Given the description of an element on the screen output the (x, y) to click on. 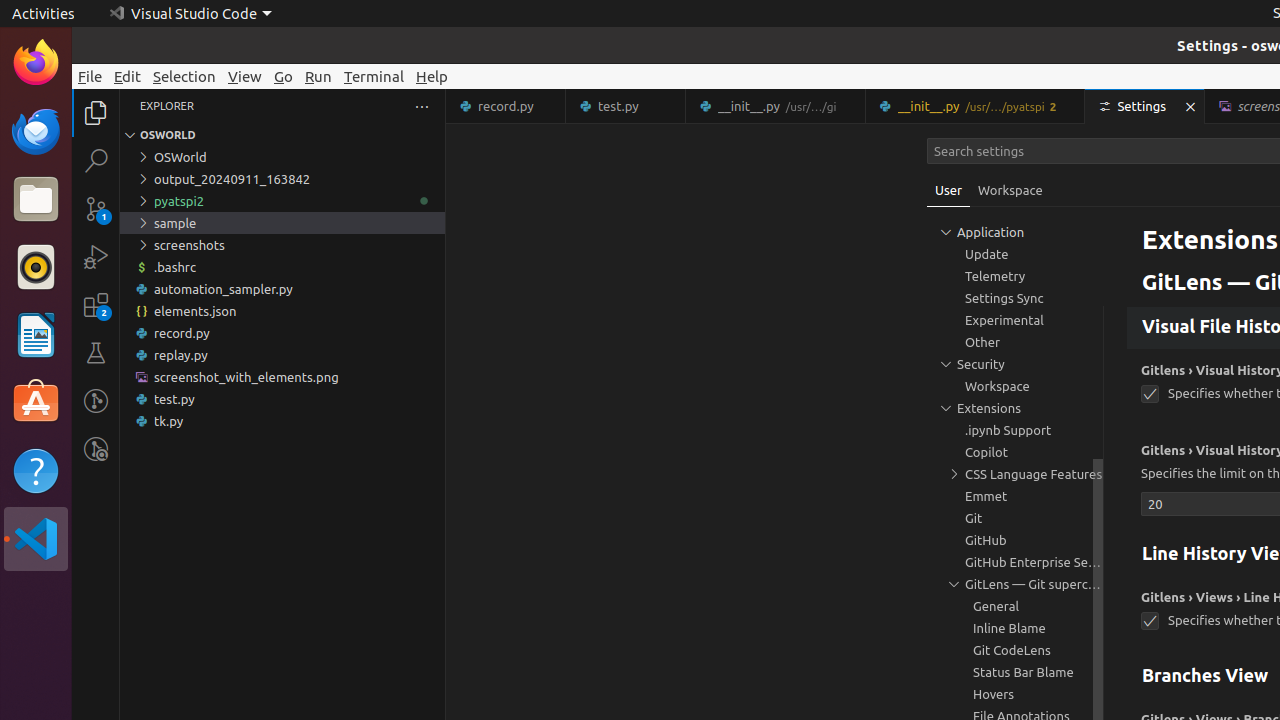
Run and Debug (Ctrl+Shift+D) Element type: page-tab (96, 257)
test.py Element type: tree-item (282, 399)
Explorer (Ctrl+Shift+E) Element type: page-tab (96, 113)
Inline Blame, group Element type: tree-item (1015, 628)
GitLens — Git supercharged, group Element type: tree-item (1015, 584)
